Given the description of an element on the screen output the (x, y) to click on. 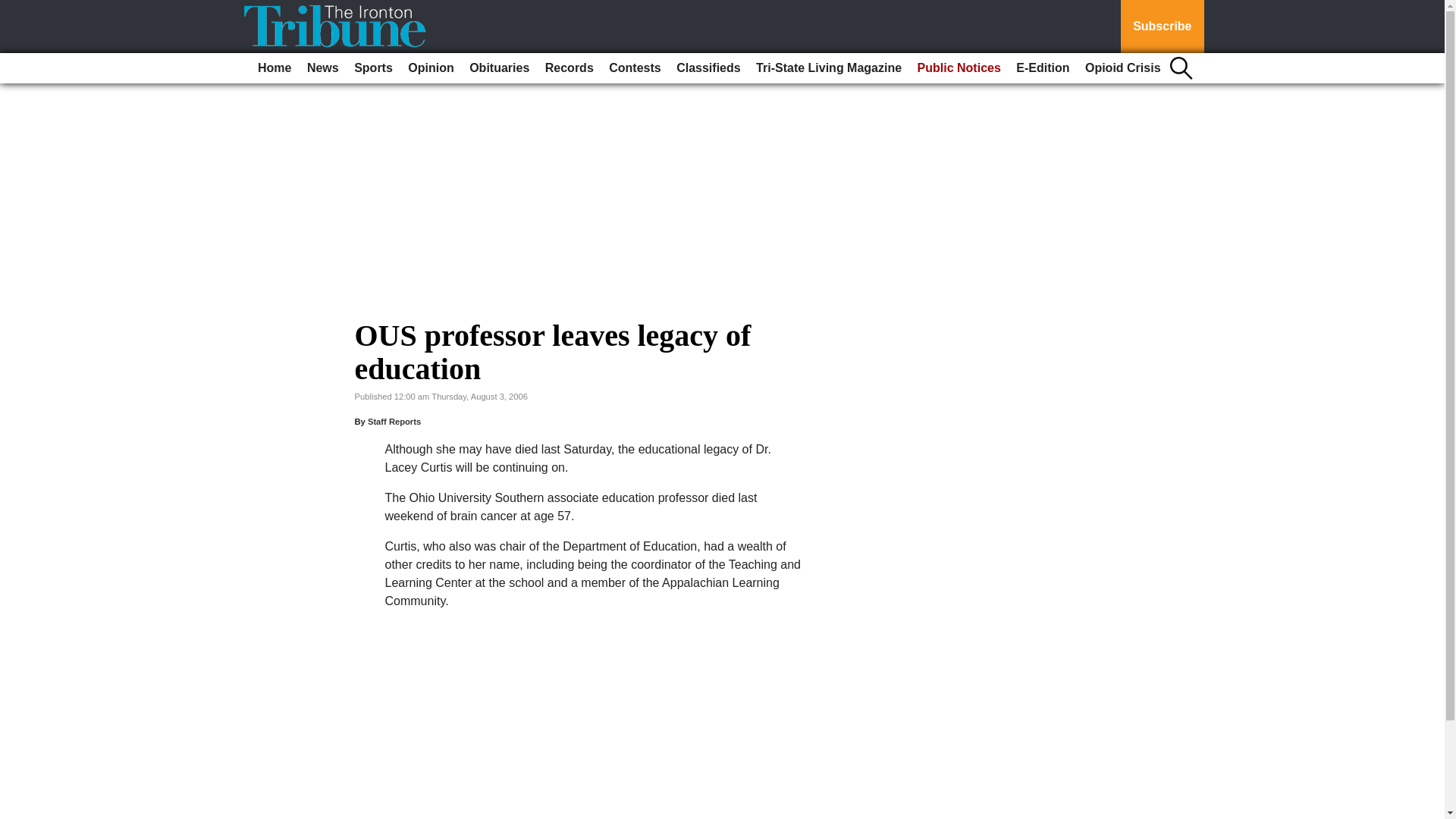
Staff Reports (394, 420)
Opinion (430, 68)
Contests (634, 68)
Go (13, 9)
Public Notices (959, 68)
News (323, 68)
E-Edition (1042, 68)
Obituaries (499, 68)
Classifieds (707, 68)
Tri-State Living Magazine (828, 68)
Home (274, 68)
Records (568, 68)
Subscribe (1162, 26)
Sports (372, 68)
Opioid Crisis (1122, 68)
